Given the description of an element on the screen output the (x, y) to click on. 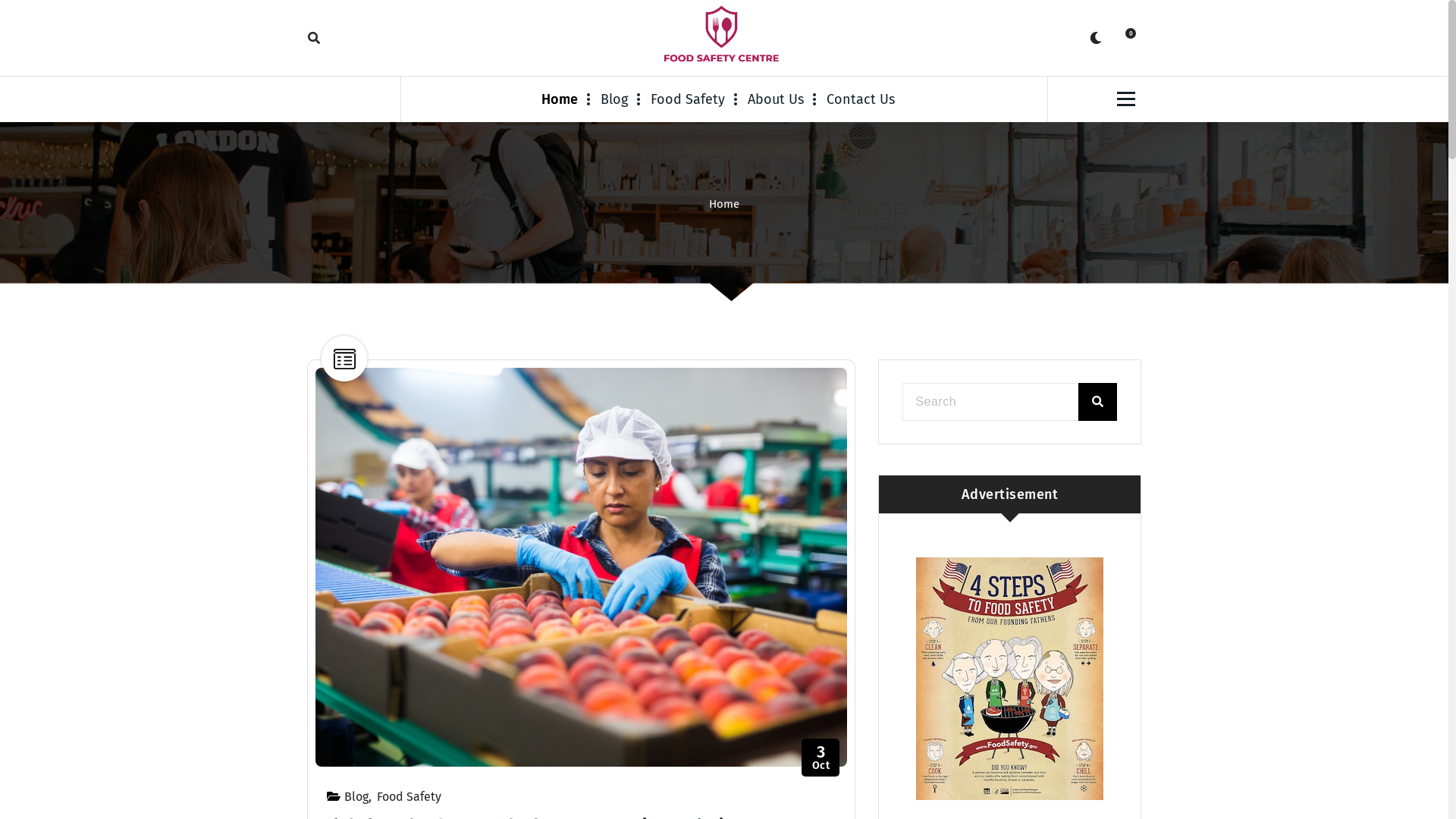
Home Element type: text (565, 99)
Blog Element type: text (356, 796)
Food Safety Element type: text (687, 99)
0 Element type: text (1125, 37)
Food Safety Element type: text (408, 796)
3
Oct Element type: text (820, 757)
Home Element type: text (724, 203)
About Us Element type: text (775, 99)
Contact Us Element type: text (860, 99)
Blog Element type: text (614, 99)
